Given the description of an element on the screen output the (x, y) to click on. 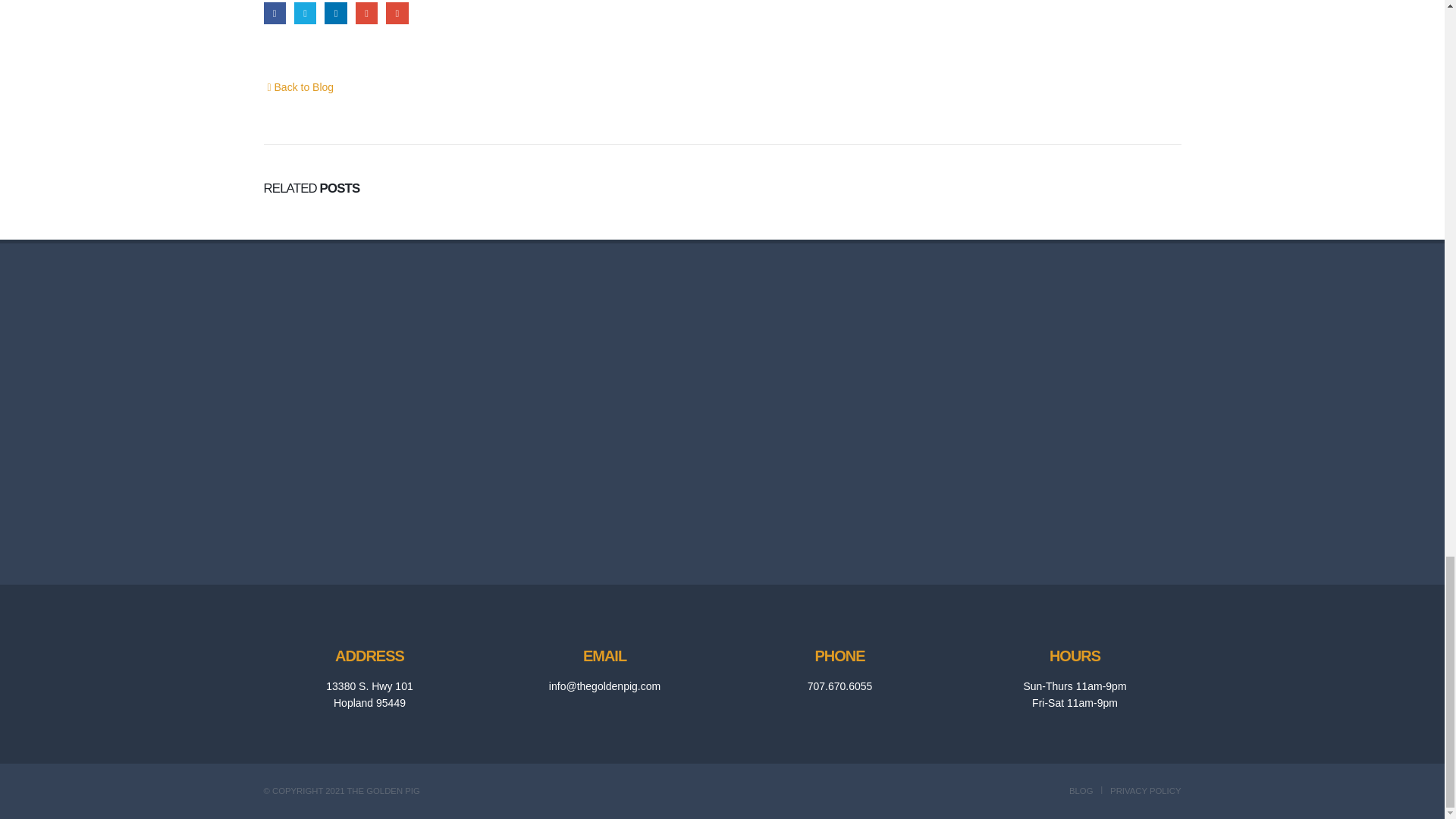
Back to Blog (298, 86)
Facebook (274, 13)
LinkedIn (335, 13)
Twitter (304, 13)
Email (396, 13)
LinkedIn (335, 13)
Twitter (304, 13)
Email (396, 13)
Facebook (274, 13)
